Given the description of an element on the screen output the (x, y) to click on. 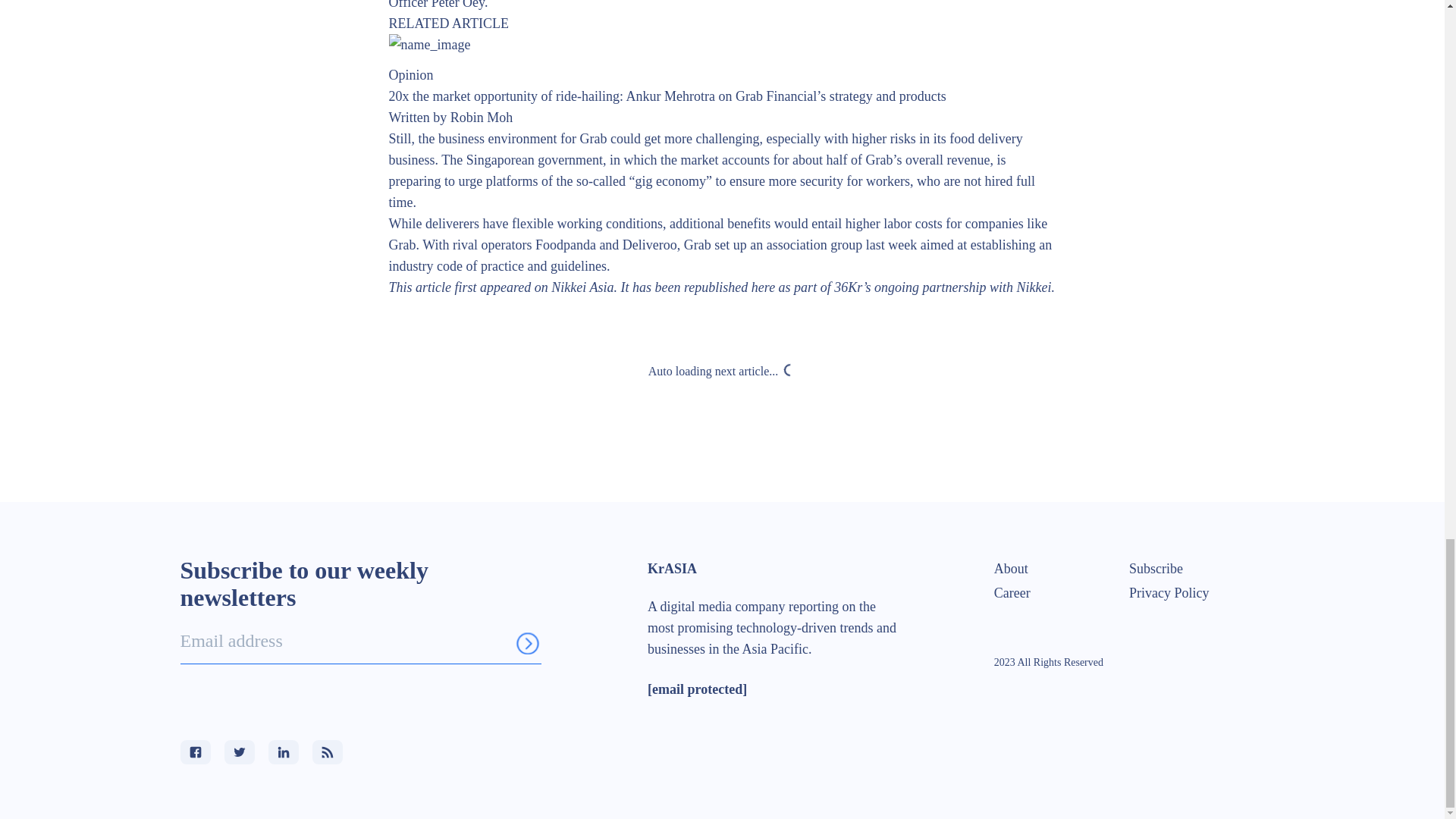
Opinion (410, 74)
partnership with Nikkei (986, 287)
gig economy (670, 181)
Nikkei Asia (581, 287)
Robin Moh (481, 117)
